Given the description of an element on the screen output the (x, y) to click on. 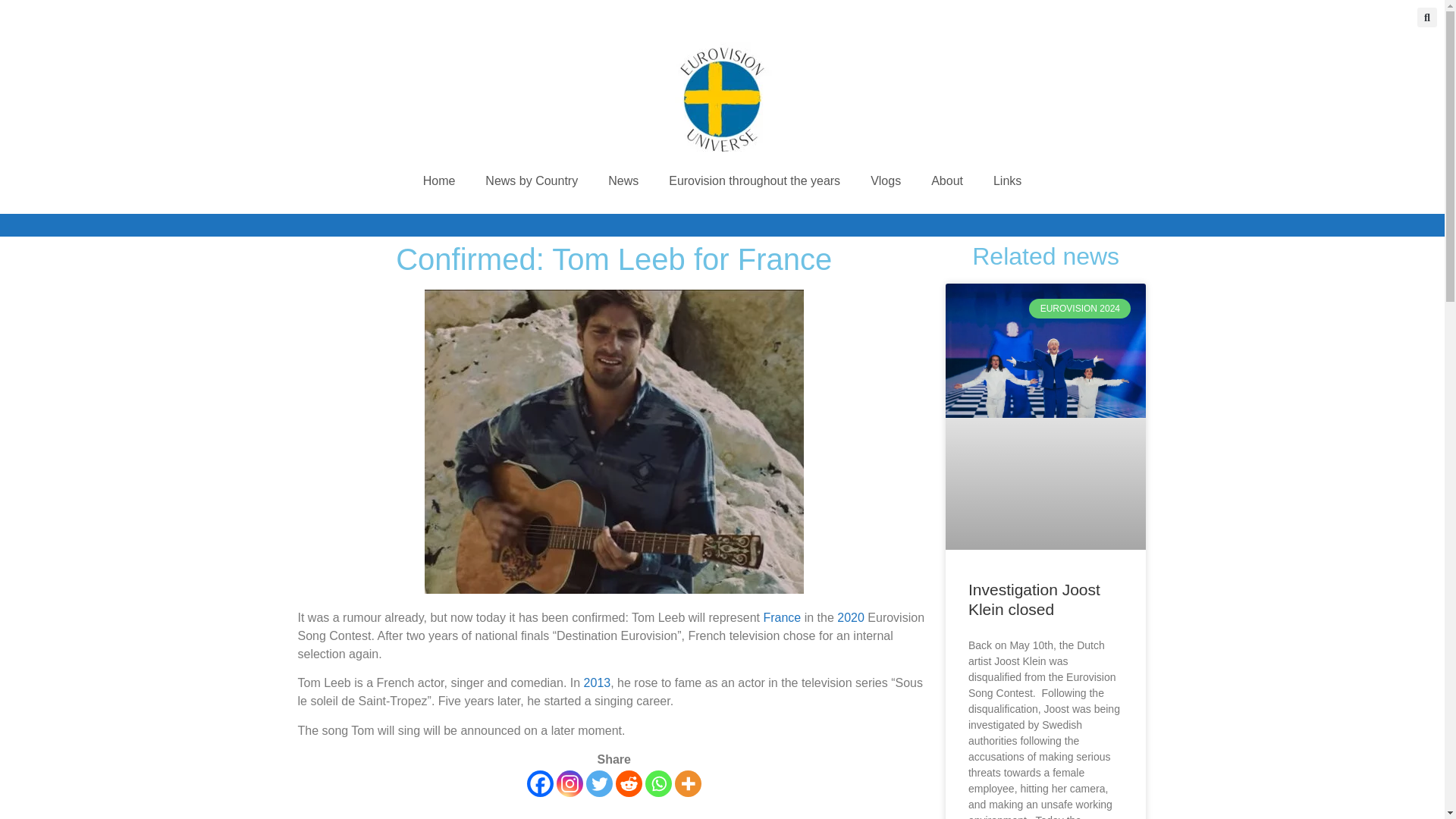
France (781, 617)
Facebook (540, 783)
News by Country (531, 181)
Instagram (569, 783)
Reddit (628, 783)
Home (438, 181)
2013 (597, 682)
2020 (850, 617)
Whatsapp (658, 783)
Twitter (599, 783)
